Given the description of an element on the screen output the (x, y) to click on. 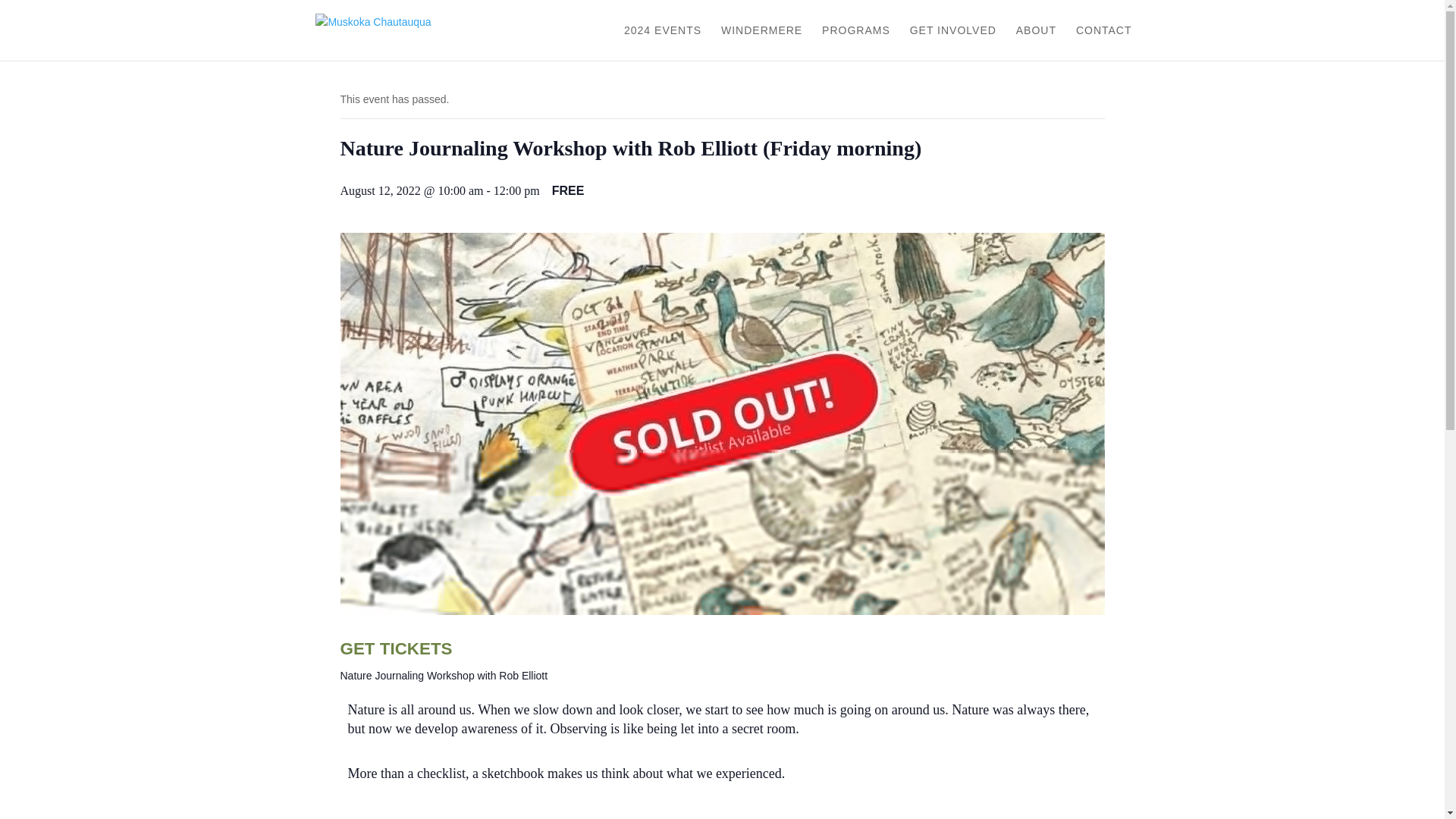
GET INVOLVED (952, 42)
2024 EVENTS (662, 42)
PROGRAMS (855, 42)
CONTACT (1103, 42)
WINDERMERE (761, 42)
ABOUT (1036, 42)
